Given the description of an element on the screen output the (x, y) to click on. 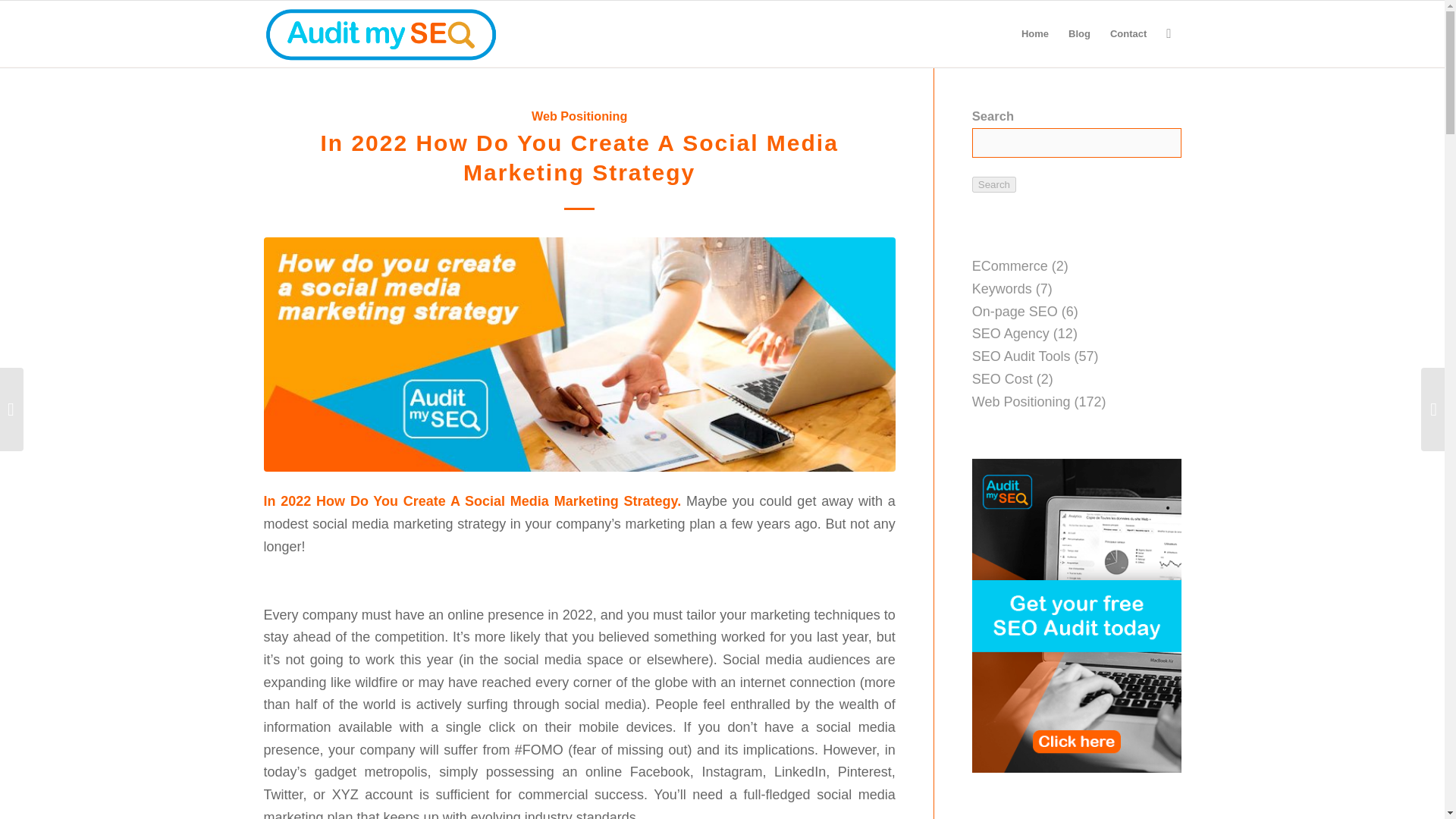
Keywords (1002, 288)
Search (994, 184)
SEO Agency (1010, 333)
On-page SEO (1015, 311)
SEO Cost (1002, 378)
SEO Audit Tools (1021, 355)
In 2022 How Do You Create A Social Media Marketing Strategy (579, 157)
Web Positioning (579, 115)
